Given the description of an element on the screen output the (x, y) to click on. 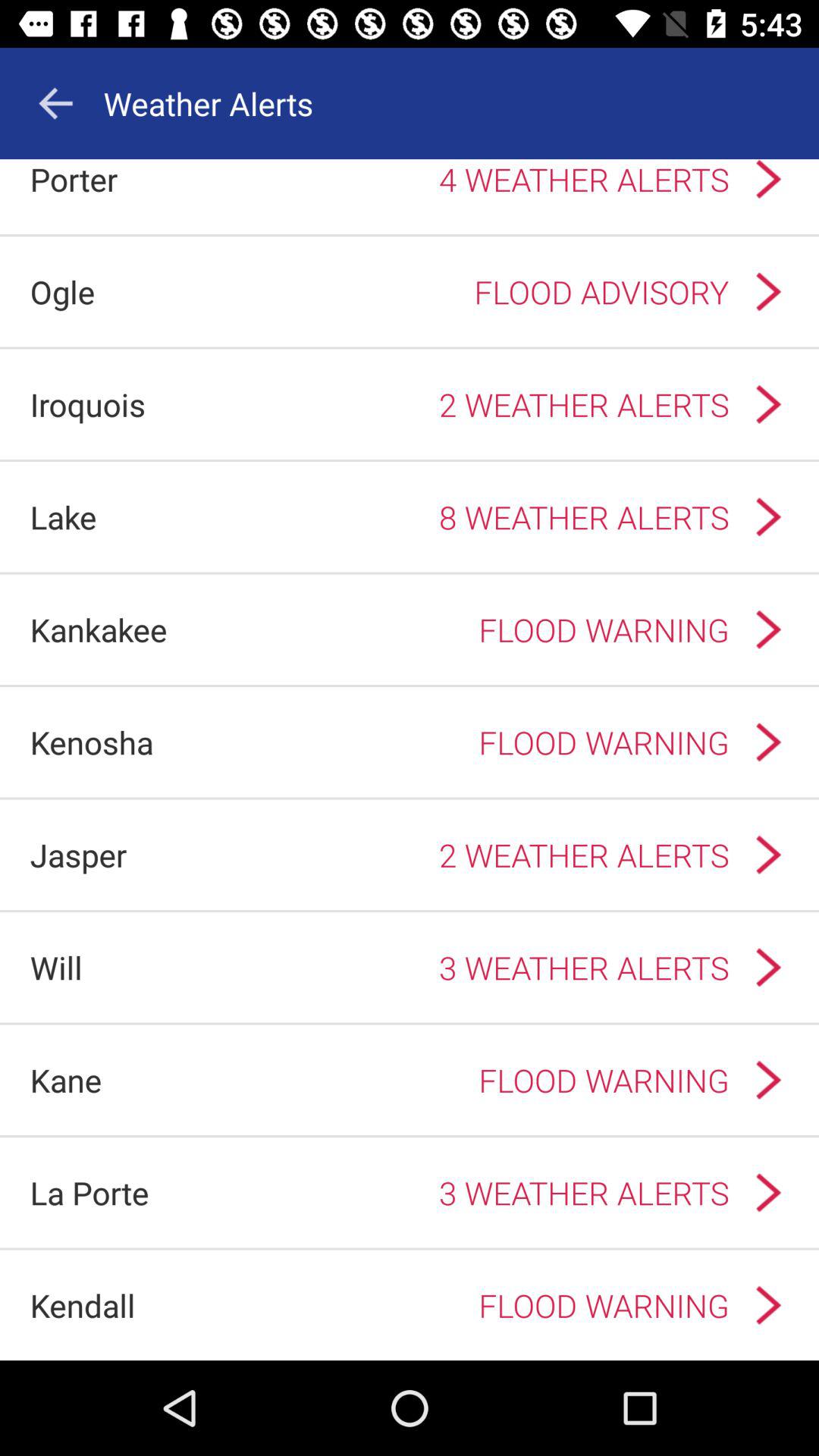
choose the app to the left of the flood warning app (91, 741)
